Given the description of an element on the screen output the (x, y) to click on. 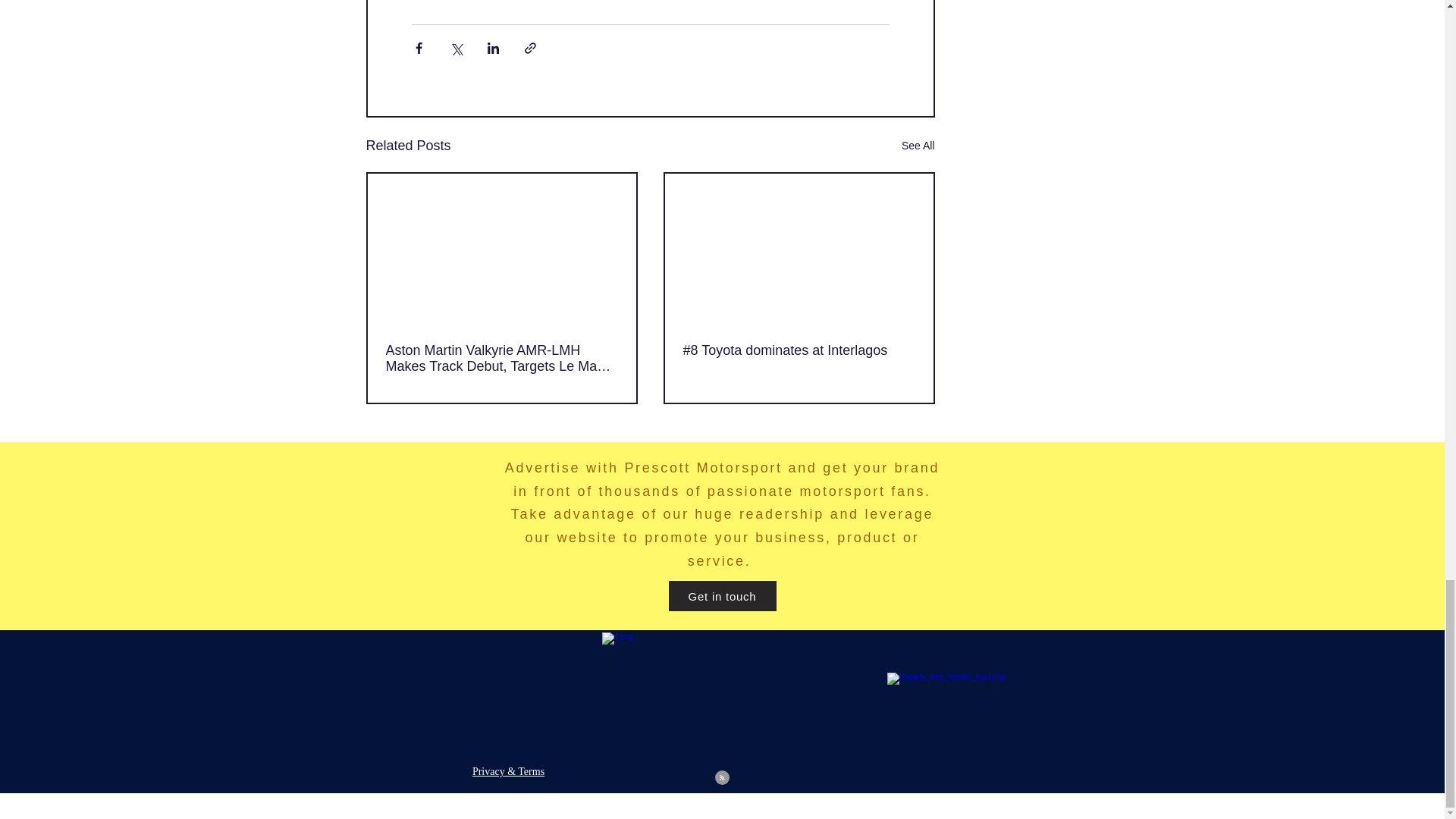
See All (917, 146)
Get in touch (722, 595)
